Given the description of an element on the screen output the (x, y) to click on. 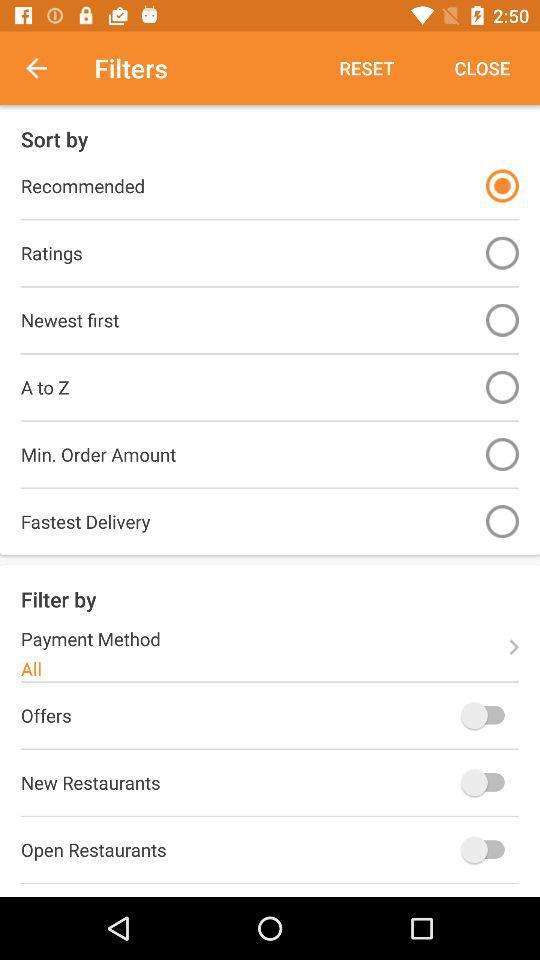
sort by order minimum (502, 454)
